Given the description of an element on the screen output the (x, y) to click on. 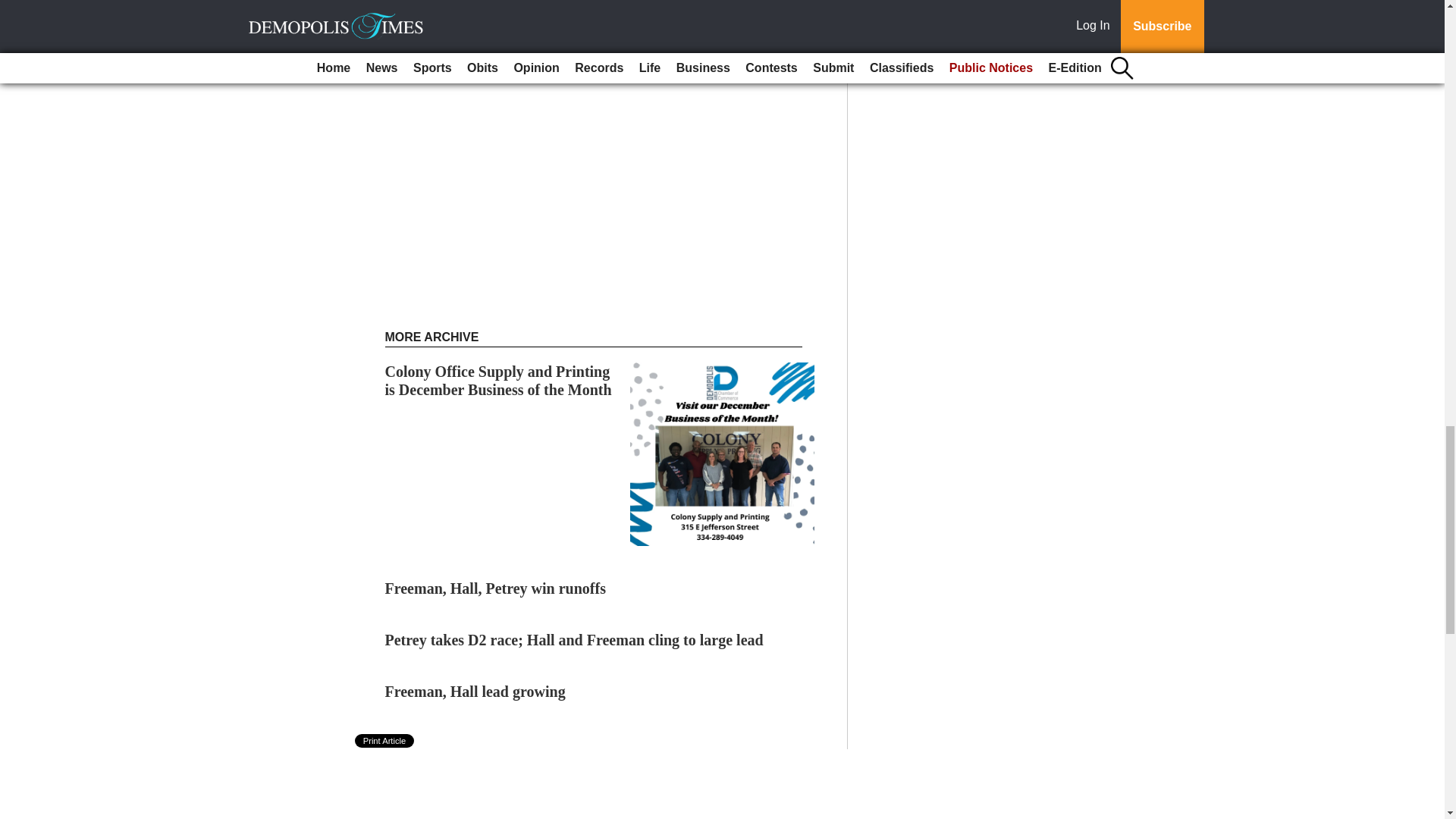
Freeman, Hall lead growing (475, 691)
Petrey takes D2 race; Hall and Freeman cling to large lead (573, 639)
Freeman, Hall lead growing (475, 691)
Petrey takes D2 race; Hall and Freeman cling to large lead (573, 639)
Freeman, Hall, Petrey win runoffs (495, 588)
Freeman, Hall, Petrey win runoffs (495, 588)
Print Article (384, 740)
